Given the description of an element on the screen output the (x, y) to click on. 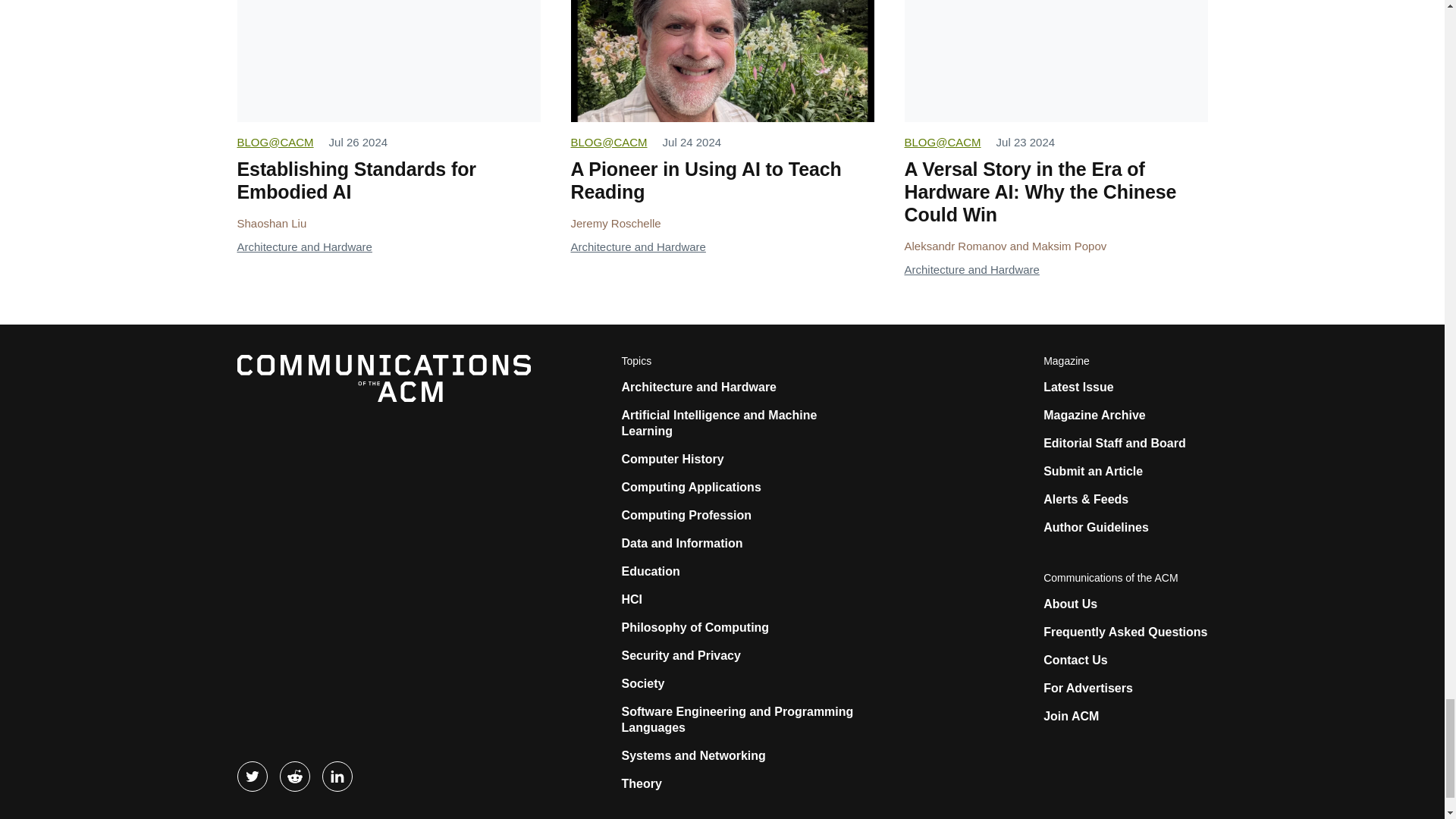
Posts by Aleksandr Romanov (955, 245)
Posts by Jeremy Roschelle (615, 223)
Posts by Shaoshan Liu (270, 223)
